Given the description of an element on the screen output the (x, y) to click on. 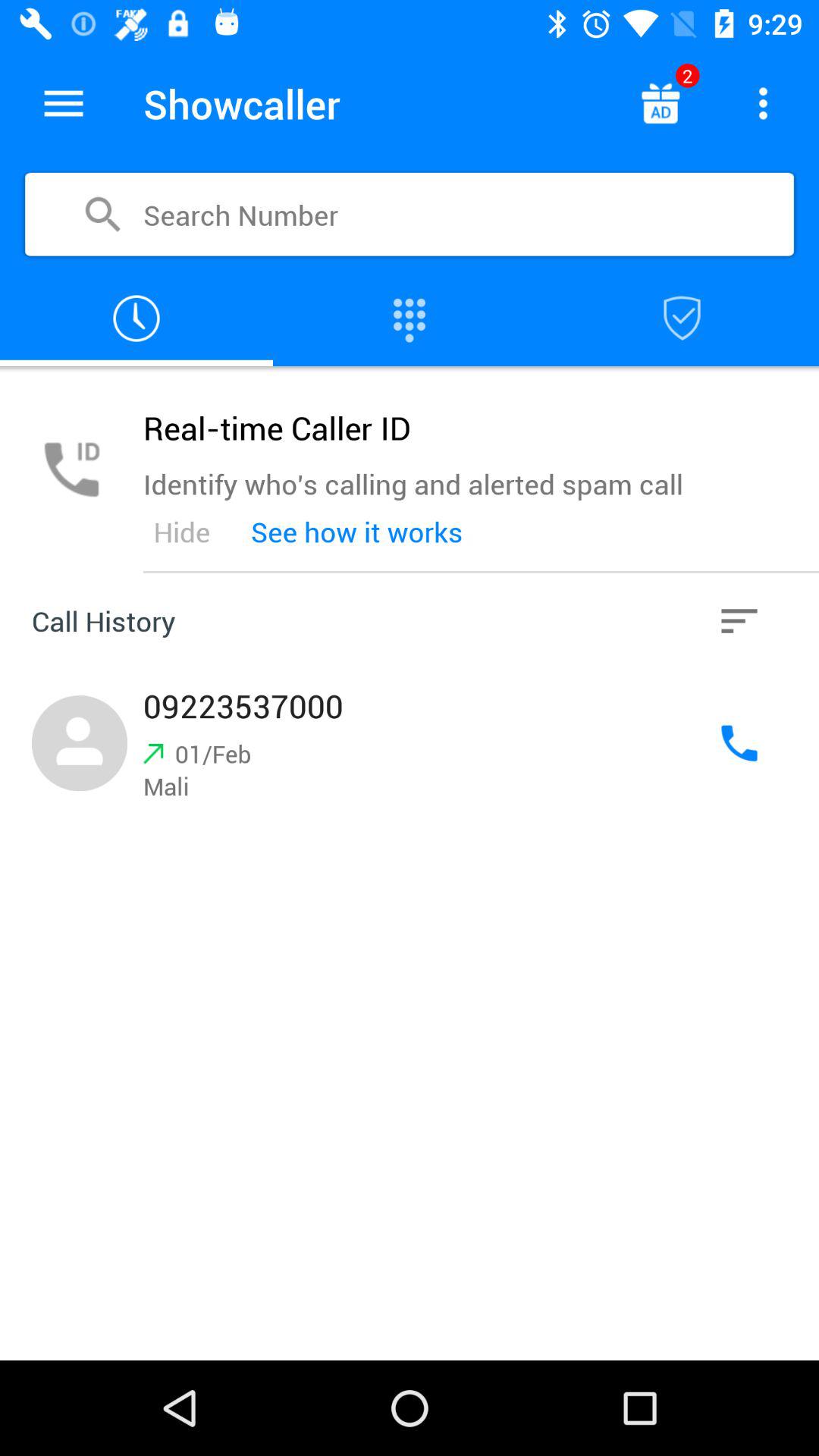
open options (763, 103)
